Given the description of an element on the screen output the (x, y) to click on. 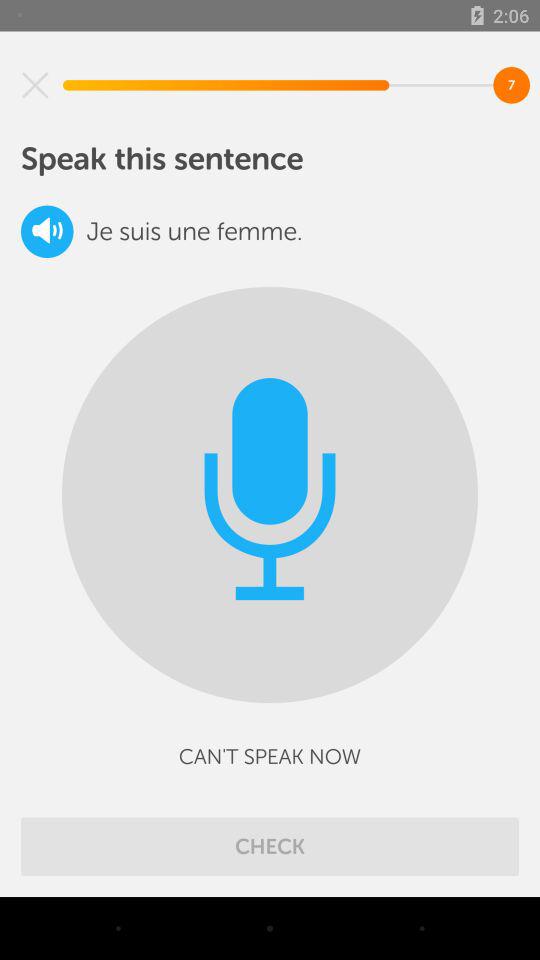
select item to the left of the je icon (47, 231)
